Given the description of an element on the screen output the (x, y) to click on. 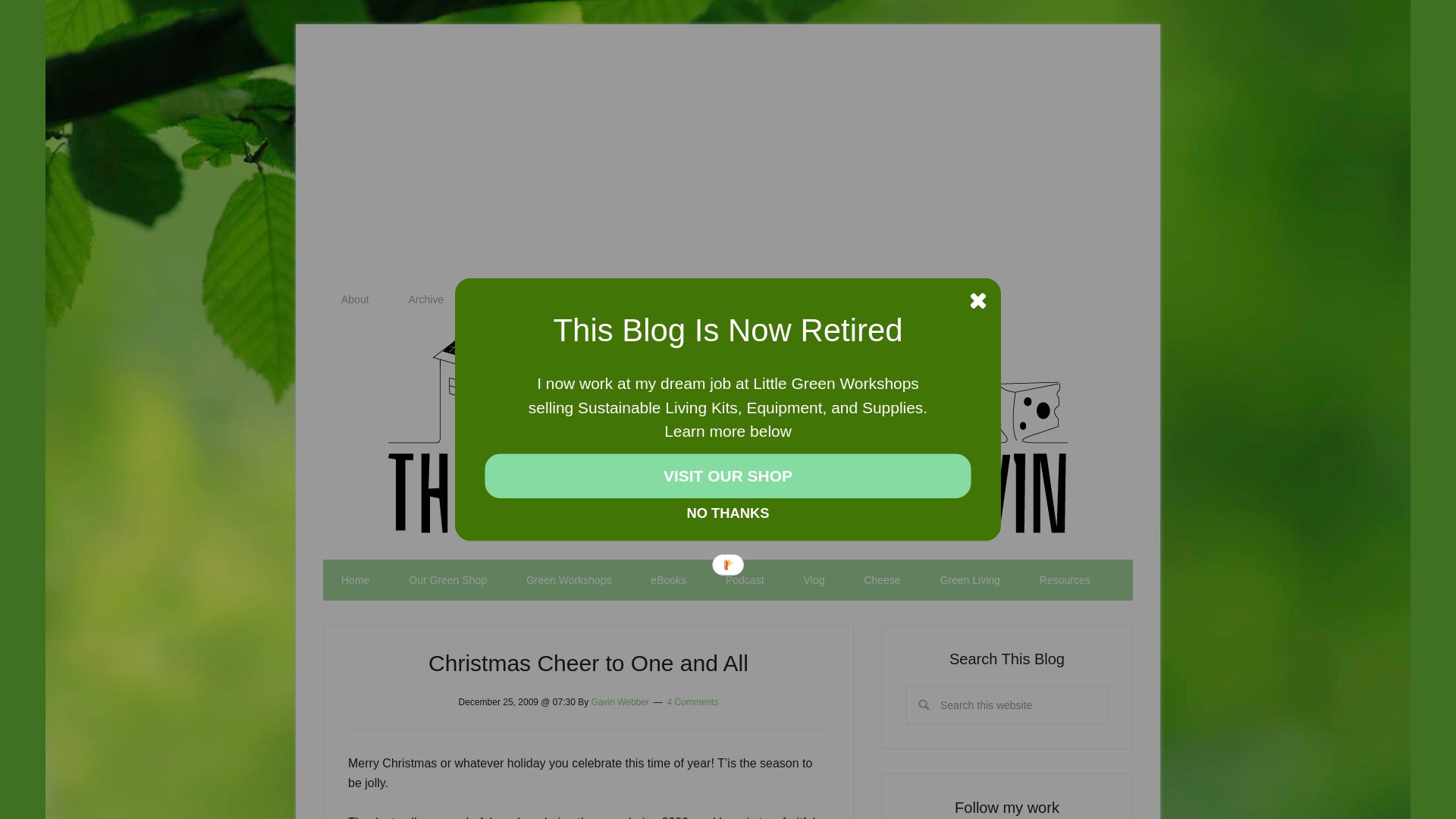
Podcast (745, 579)
4 Comments (691, 701)
About (355, 299)
Gavin Webber (620, 701)
Home (355, 579)
eBooks (667, 579)
Our Green Shop (447, 579)
Contact (500, 299)
Cheese (881, 579)
The Greening of Gavin (727, 527)
Resources (1065, 579)
Podcasts (745, 579)
Archive (425, 299)
